Given the description of an element on the screen output the (x, y) to click on. 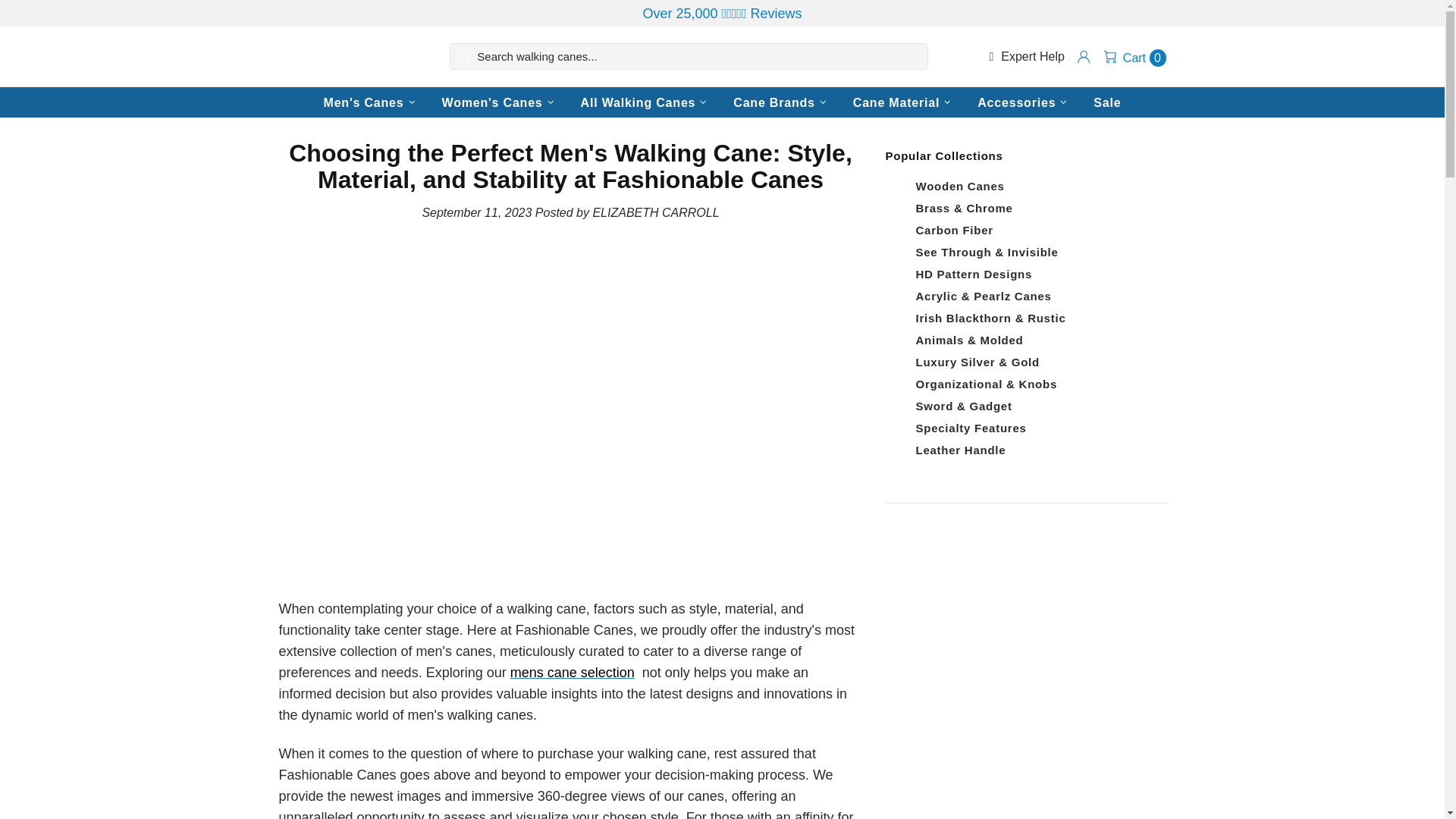
Expert Help (1026, 56)
Cart 0 (1134, 55)
Men's Canes (370, 101)
Fashionable Canes (346, 56)
